Given the description of an element on the screen output the (x, y) to click on. 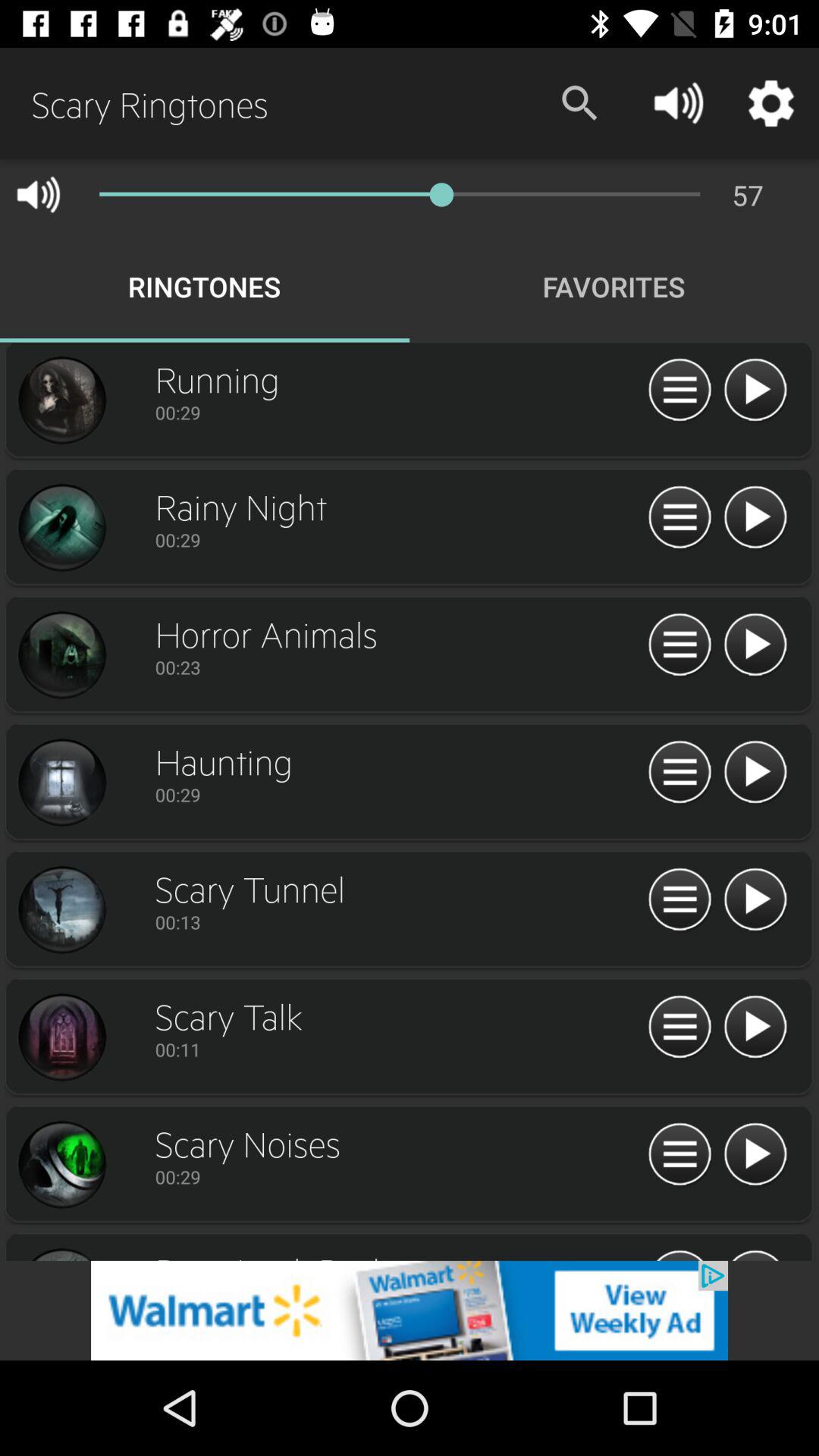
play a playlist (755, 1027)
